Given the description of an element on the screen output the (x, y) to click on. 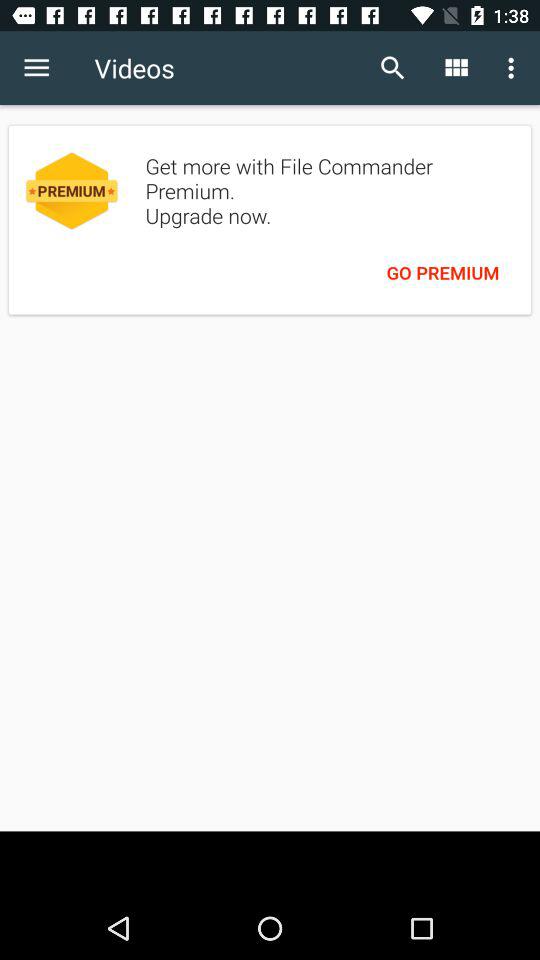
turn off the item next to the videos item (392, 67)
